Given the description of an element on the screen output the (x, y) to click on. 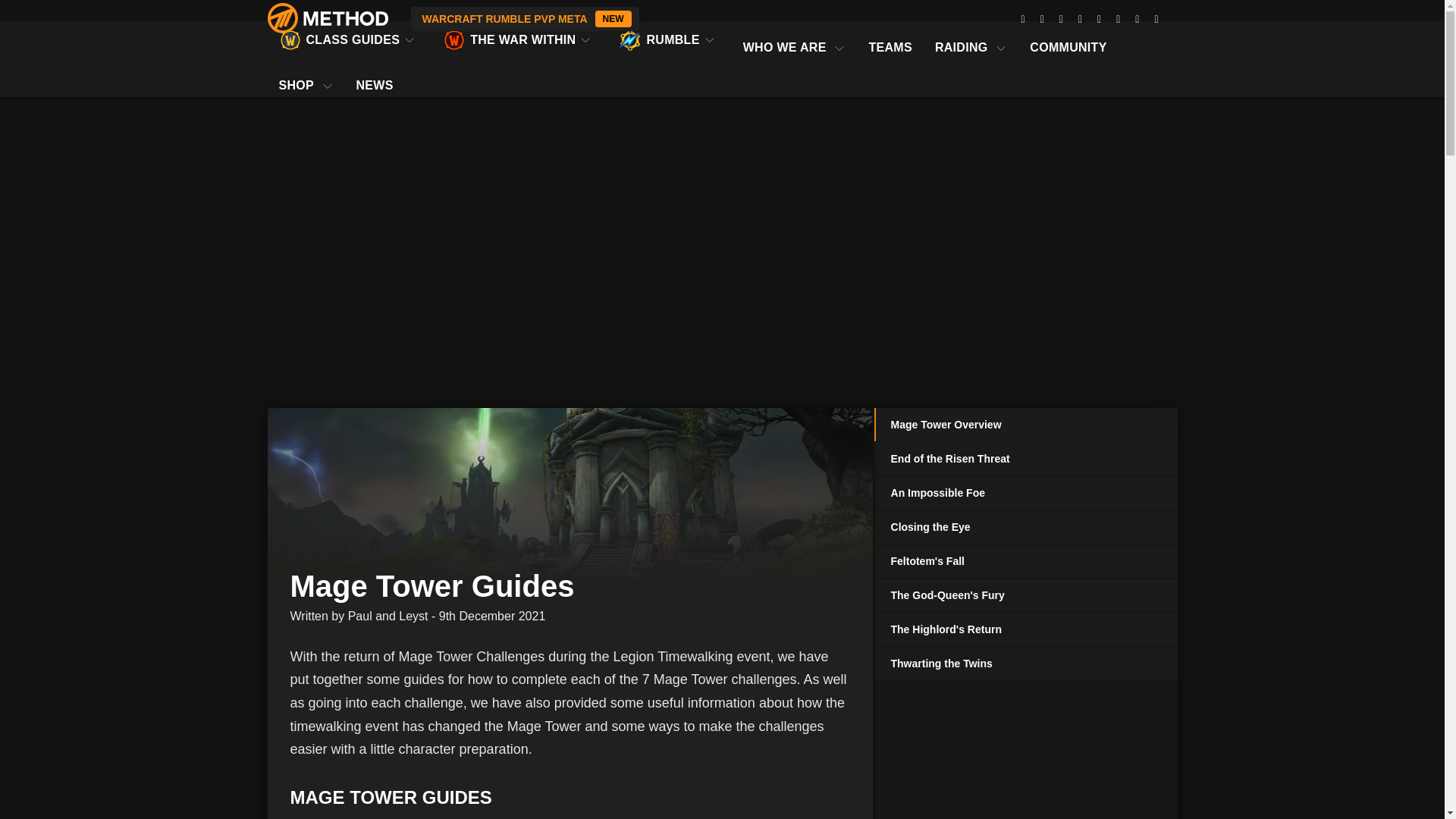
NEWS (373, 77)
RUMBLE (668, 39)
COMMUNITY (524, 18)
CLASS GUIDES (1067, 39)
THE WAR WITHIN (348, 39)
WHO WE ARE (518, 39)
TEAMS (794, 39)
SHOP (890, 39)
RAIDING (304, 77)
